Given the description of an element on the screen output the (x, y) to click on. 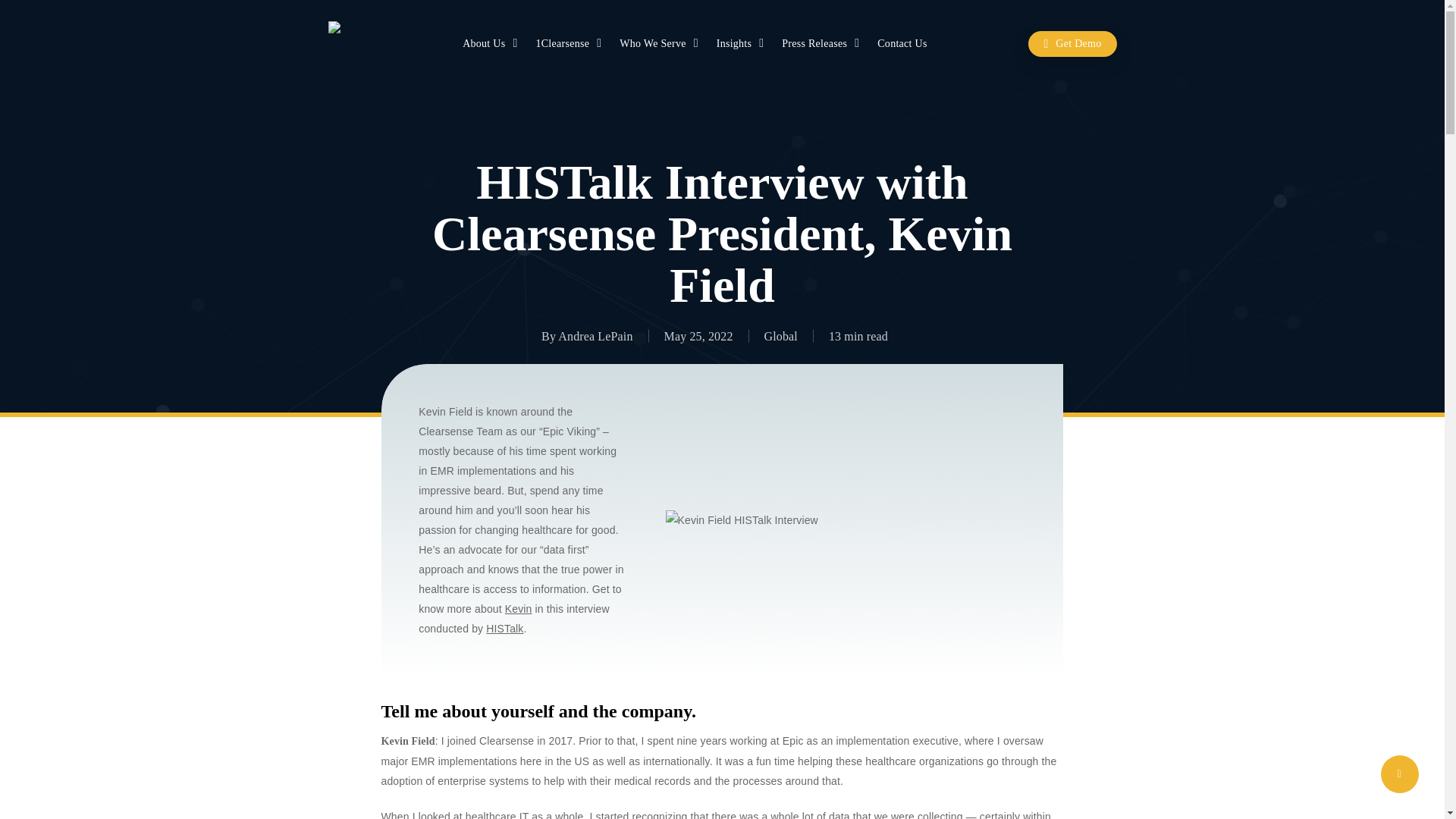
About Us (491, 43)
1Clearsense (569, 43)
Posts by Andrea LePain (594, 335)
Who We Serve (660, 43)
Insights (741, 43)
